Given the description of an element on the screen output the (x, y) to click on. 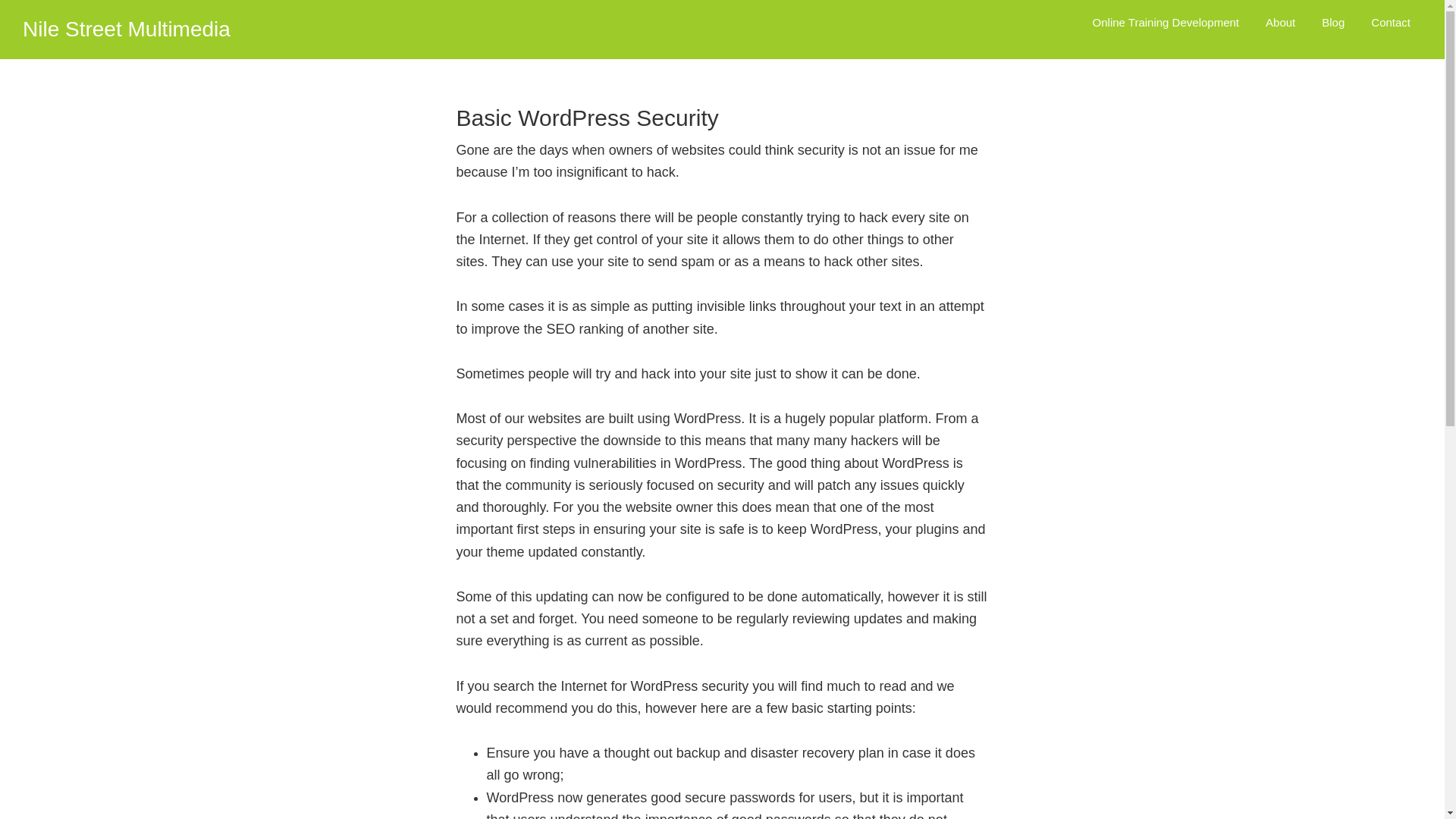
Nile Street Multimedia Element type: text (126, 28)
Online Training Development Element type: text (1165, 22)
Blog Element type: text (1332, 22)
Contact Element type: text (1390, 22)
About Element type: text (1280, 22)
Skip to primary navigation Element type: text (0, 0)
